Given the description of an element on the screen output the (x, y) to click on. 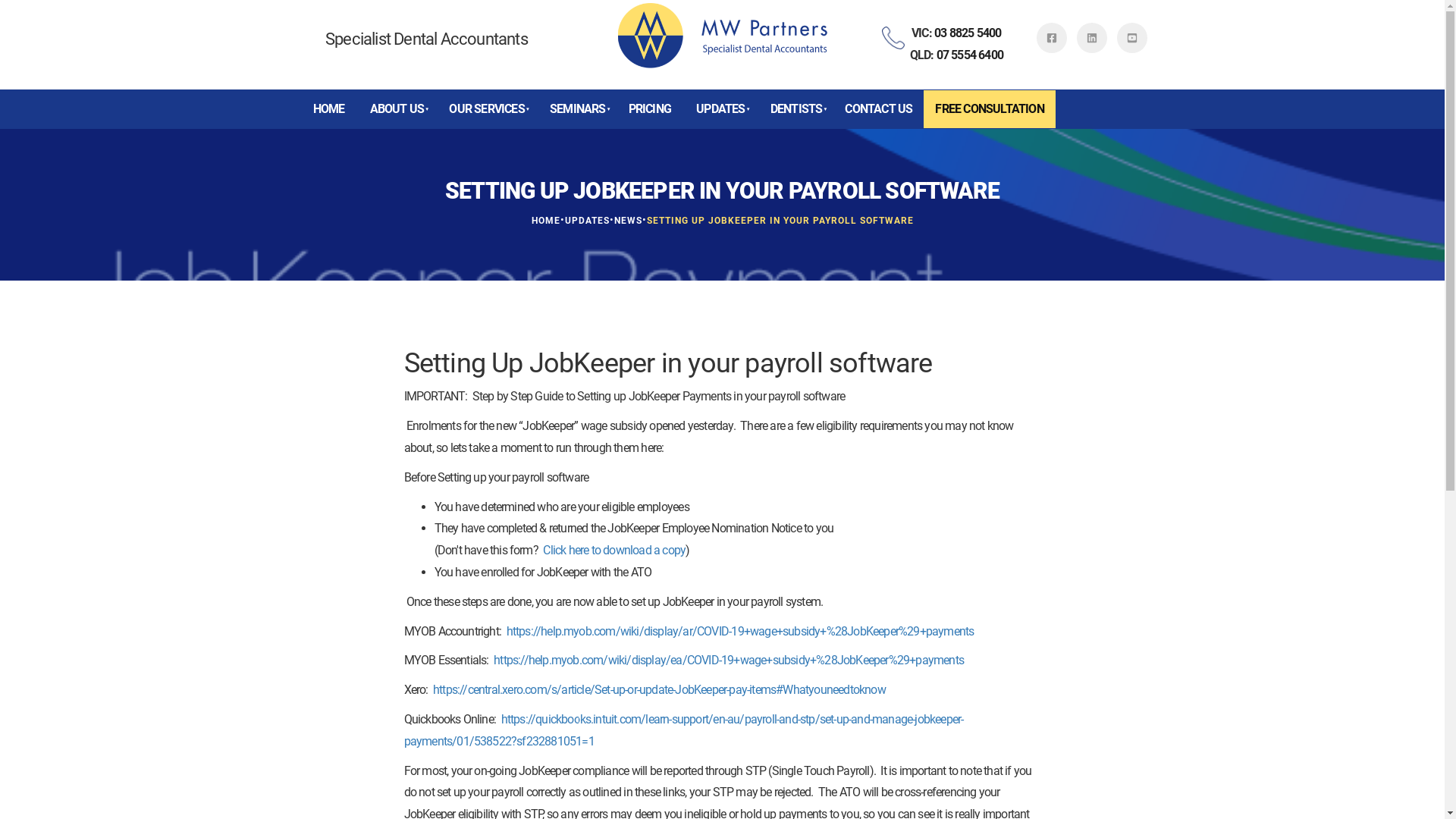
ABOUT US Element type: text (395, 109)
DENTISTS Element type: text (795, 109)
Click here to download a copy Element type: text (613, 549)
UPDATES Element type: text (586, 220)
OUR SERVICES Element type: text (485, 109)
PRICING Element type: text (649, 109)
03 8825 5400 Element type: text (967, 32)
SEMINARS Element type: text (576, 109)
FREE CONSULTATION Element type: text (988, 109)
HOME Element type: text (328, 109)
CONTACT US Element type: text (878, 109)
SETTING UP JOBKEEPER IN YOUR PAYROLL SOFTWARE Element type: text (779, 220)
HOME Element type: text (544, 220)
07 5554 6400 Element type: text (969, 54)
NEWS Element type: text (628, 220)
UPDATES Element type: text (719, 109)
